Given the description of an element on the screen output the (x, y) to click on. 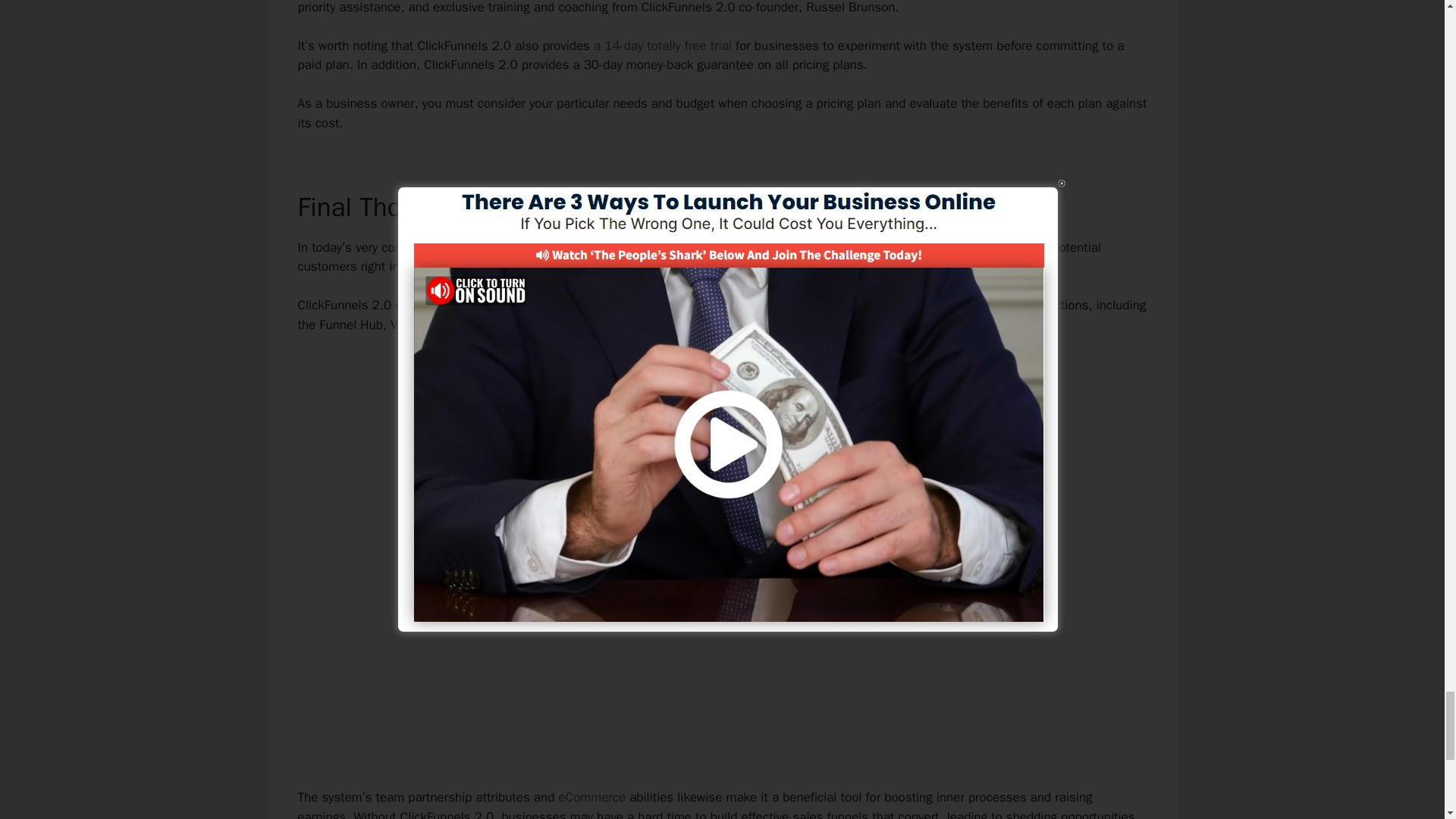
eCommerce (591, 797)
a 14-day totally free trial (663, 45)
